Given the description of an element on the screen output the (x, y) to click on. 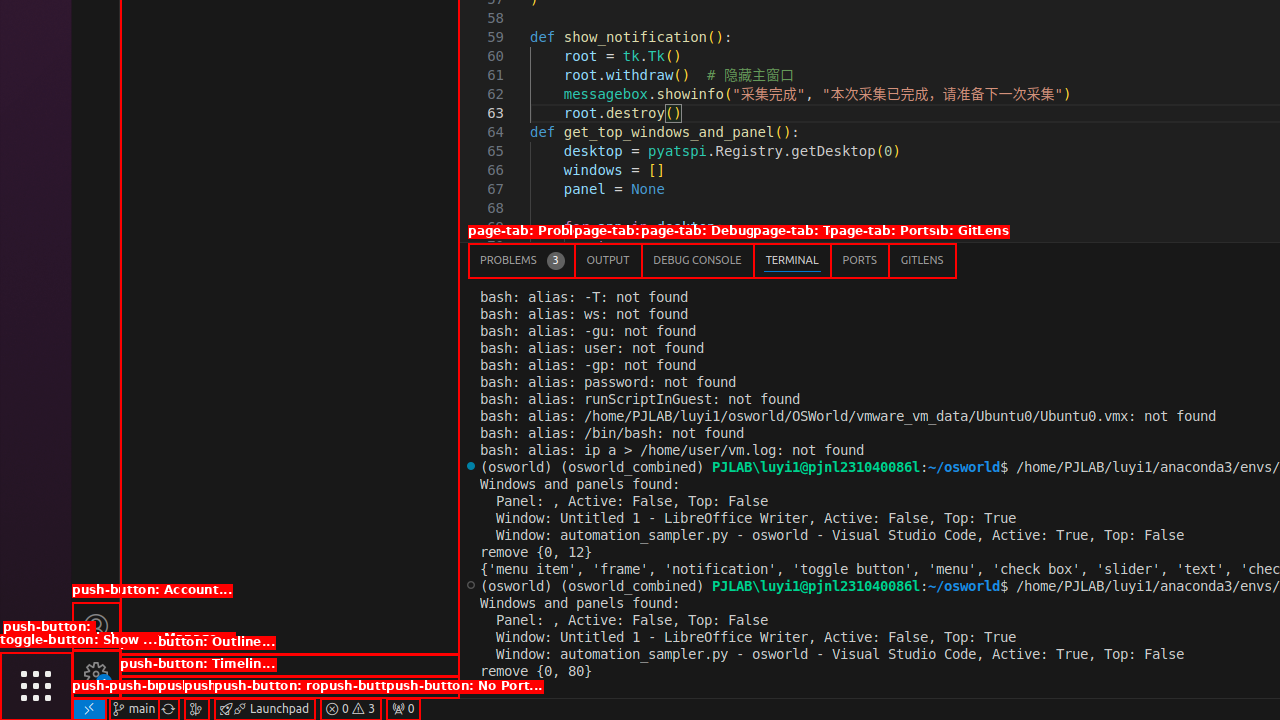
Show the GitLens Commit Graph Element type: push-button (196, 709)
remote Element type: push-button (89, 709)
Outline Section Element type: push-button (289, 665)
No Ports Forwarded Element type: push-button (403, 709)
Manage - New Code update available. Element type: push-button (96, 674)
